Given the description of an element on the screen output the (x, y) to click on. 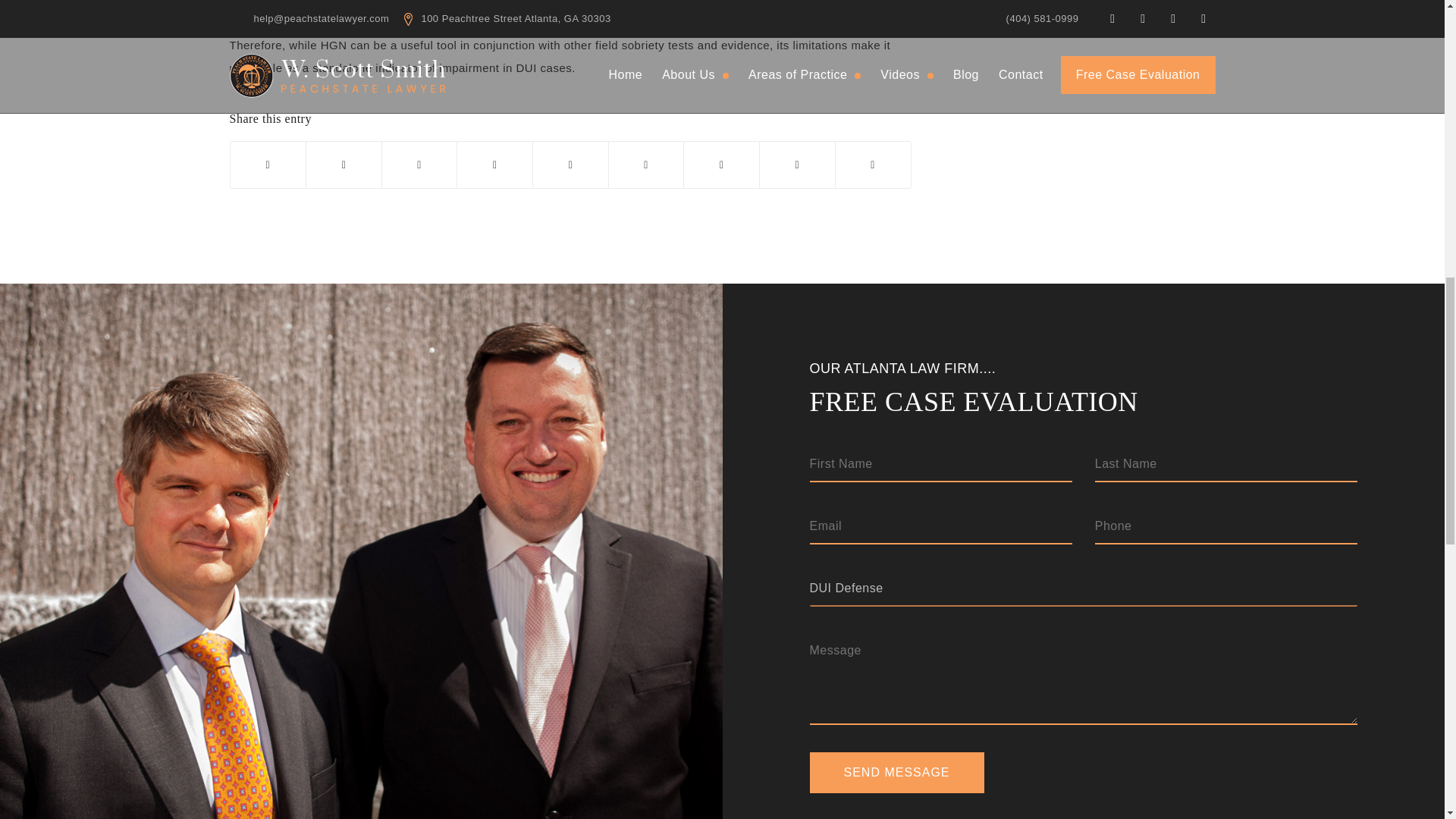
Send Message (896, 772)
